Given the description of an element on the screen output the (x, y) to click on. 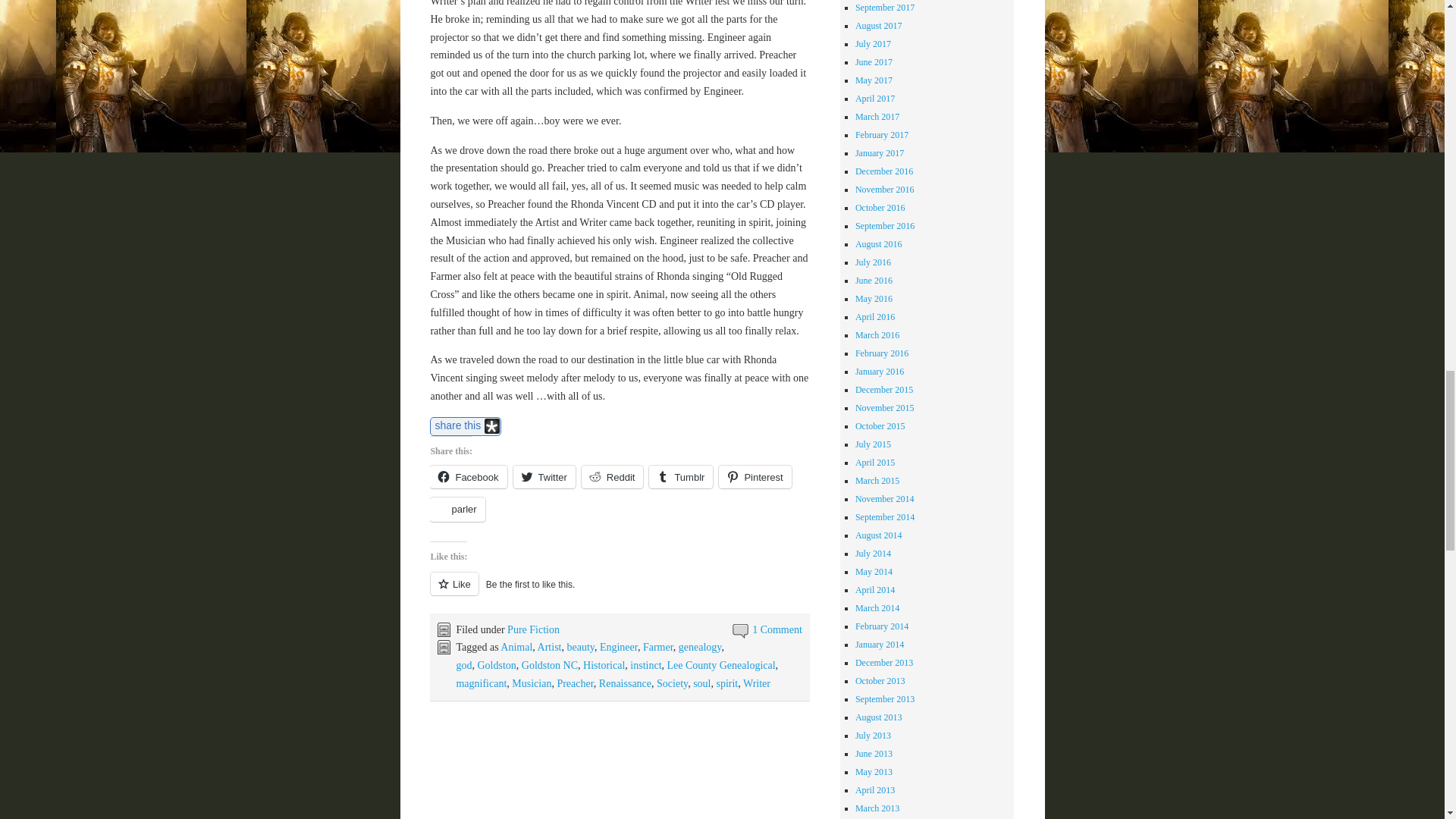
share this (464, 425)
Twitter (544, 477)
Click to share on Facebook (467, 477)
Goldston (496, 665)
instinct (645, 665)
god (463, 665)
Facebook (467, 477)
magnificant (480, 683)
Click to share on Pinterest (754, 477)
Click to share on Reddit (611, 477)
Pinterest (754, 477)
Historical (603, 665)
Lee County Genealogical (721, 665)
Like or Reblog (619, 592)
Click to share on parler (456, 509)
